Given the description of an element on the screen output the (x, y) to click on. 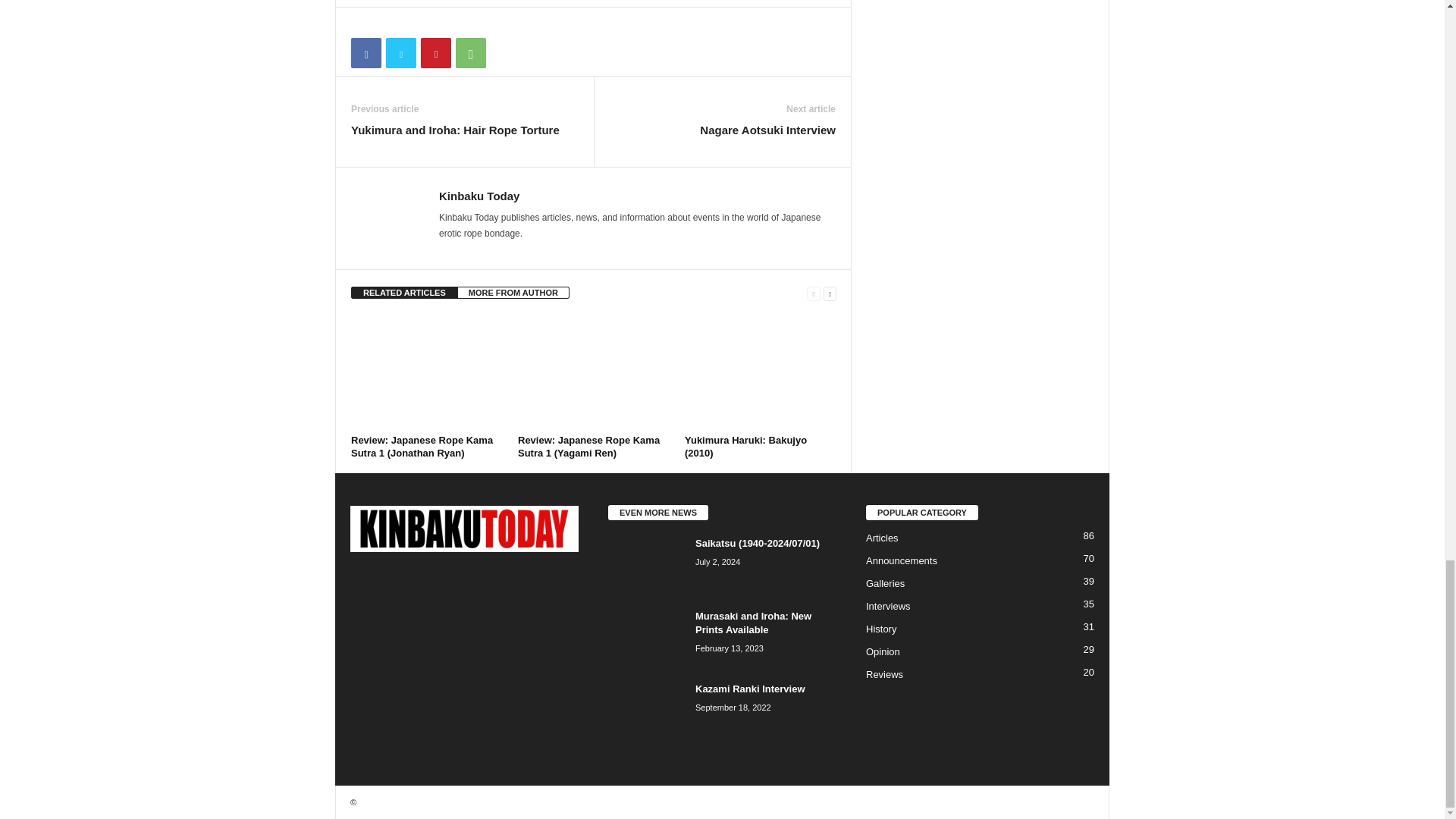
Twitter (400, 52)
WhatsApp (470, 52)
Facebook (365, 52)
bottomFacebookLike (390, 23)
Pinterest (435, 52)
